Given the description of an element on the screen output the (x, y) to click on. 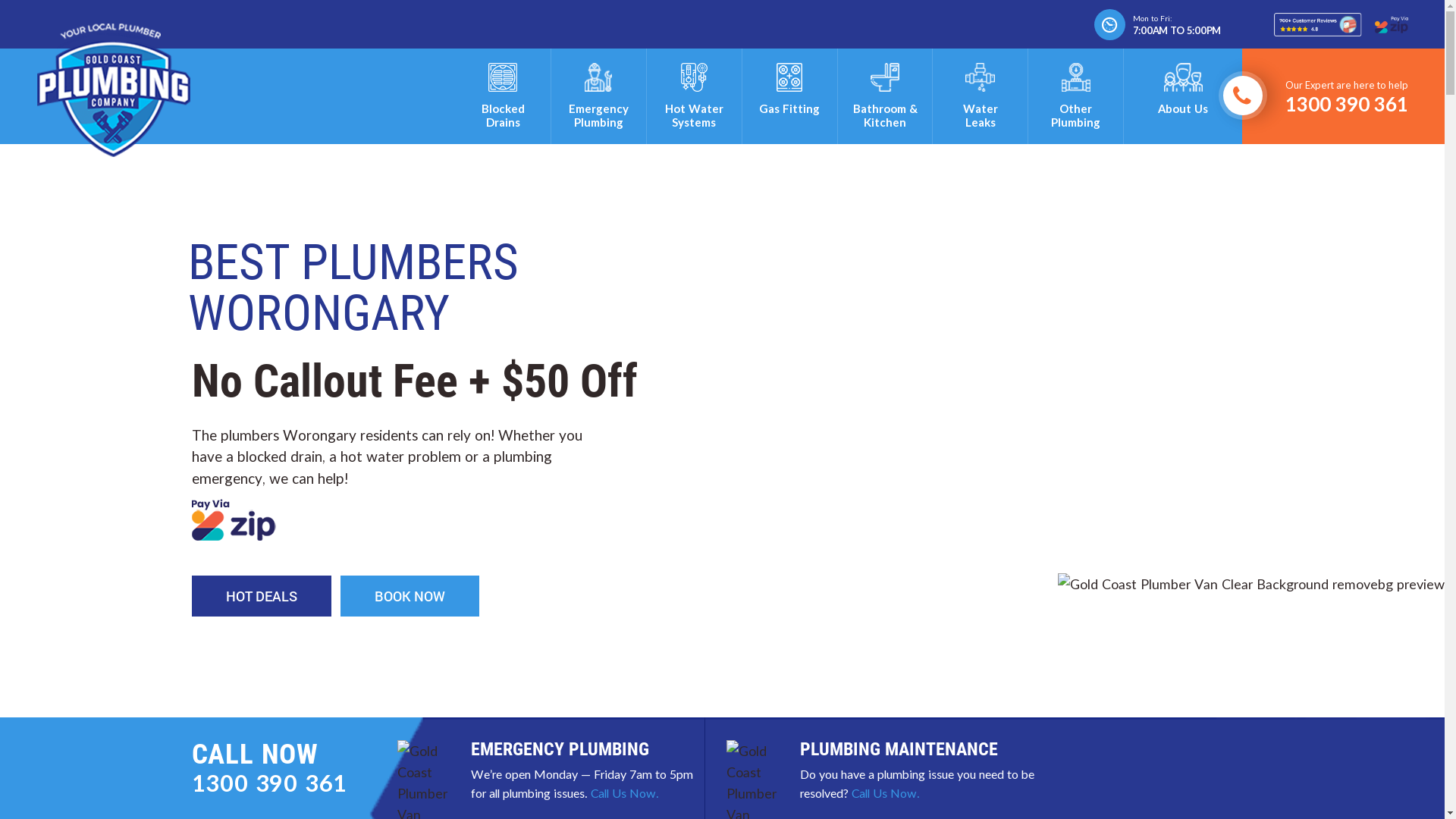
BOOK NOW Element type: text (408, 595)
Other Plumbing
Other Plumbing Element type: text (1075, 96)
Gold Coast Plumber Van Clear Background removebg preview Element type: hover (1250, 583)
Emergency Plumbing
Emergency Plumbing Element type: text (598, 96)
Gas Fitting
Gas Fitting Element type: text (789, 96)
Blocked Drains
Blocked Drains Element type: text (502, 96)
Clock Element type: hover (1109, 24)
About Us
About Us Element type: text (1182, 96)
Customer Reviews Graphic Element type: hover (1341, 24)
Our Expert are here to help
1300 390 361 Element type: text (1325, 96)
Water Leaks
Water Leaks Element type: text (979, 96)
Hot Water Systems
Hot Water Systems Element type: text (693, 96)
HOT DEALS Element type: text (260, 595)
Call Us Now. Element type: text (623, 792)
Bathroom & Kitchen
Bathroom & Kitchen Element type: text (884, 96)
1300 390 361 Element type: text (269, 781)
Phone Element type: hover (1241, 96)
Call Us Now. Element type: text (884, 792)
